Given the description of an element on the screen output the (x, y) to click on. 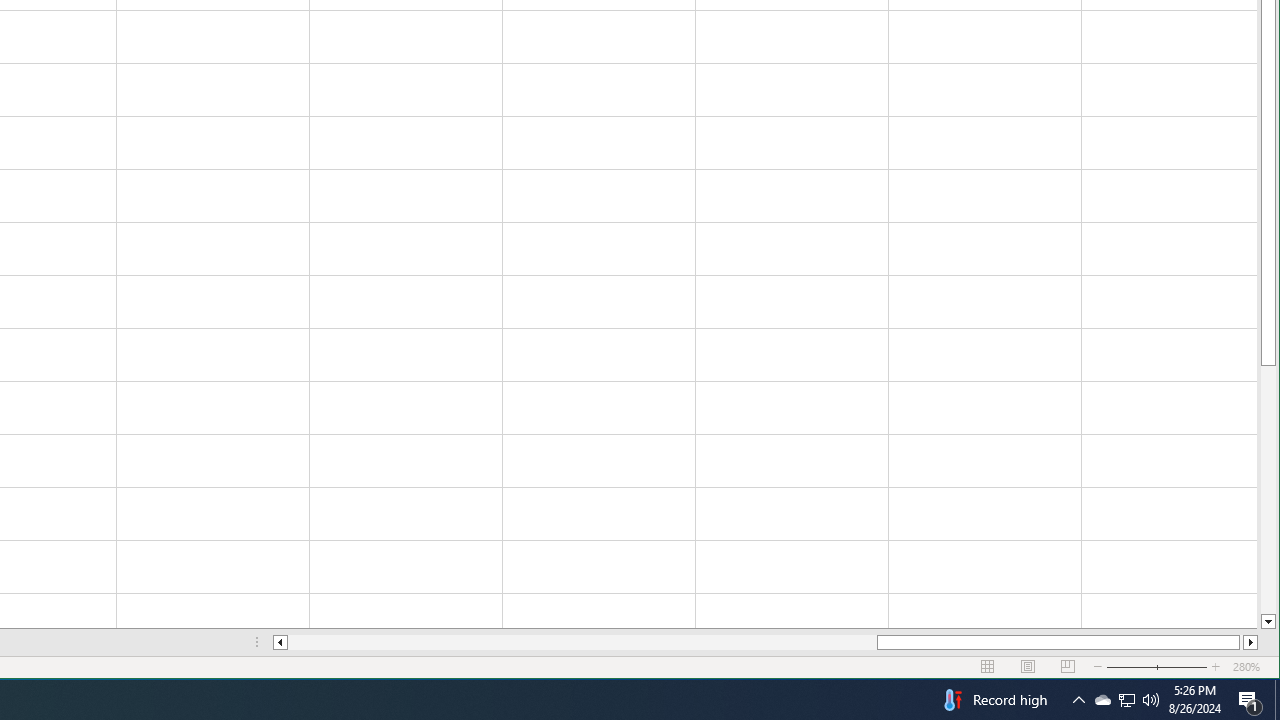
Notification Chevron (1078, 699)
User Promoted Notification Area (1126, 699)
Page left (1126, 699)
Q2790: 100% (1102, 699)
